Given the description of an element on the screen output the (x, y) to click on. 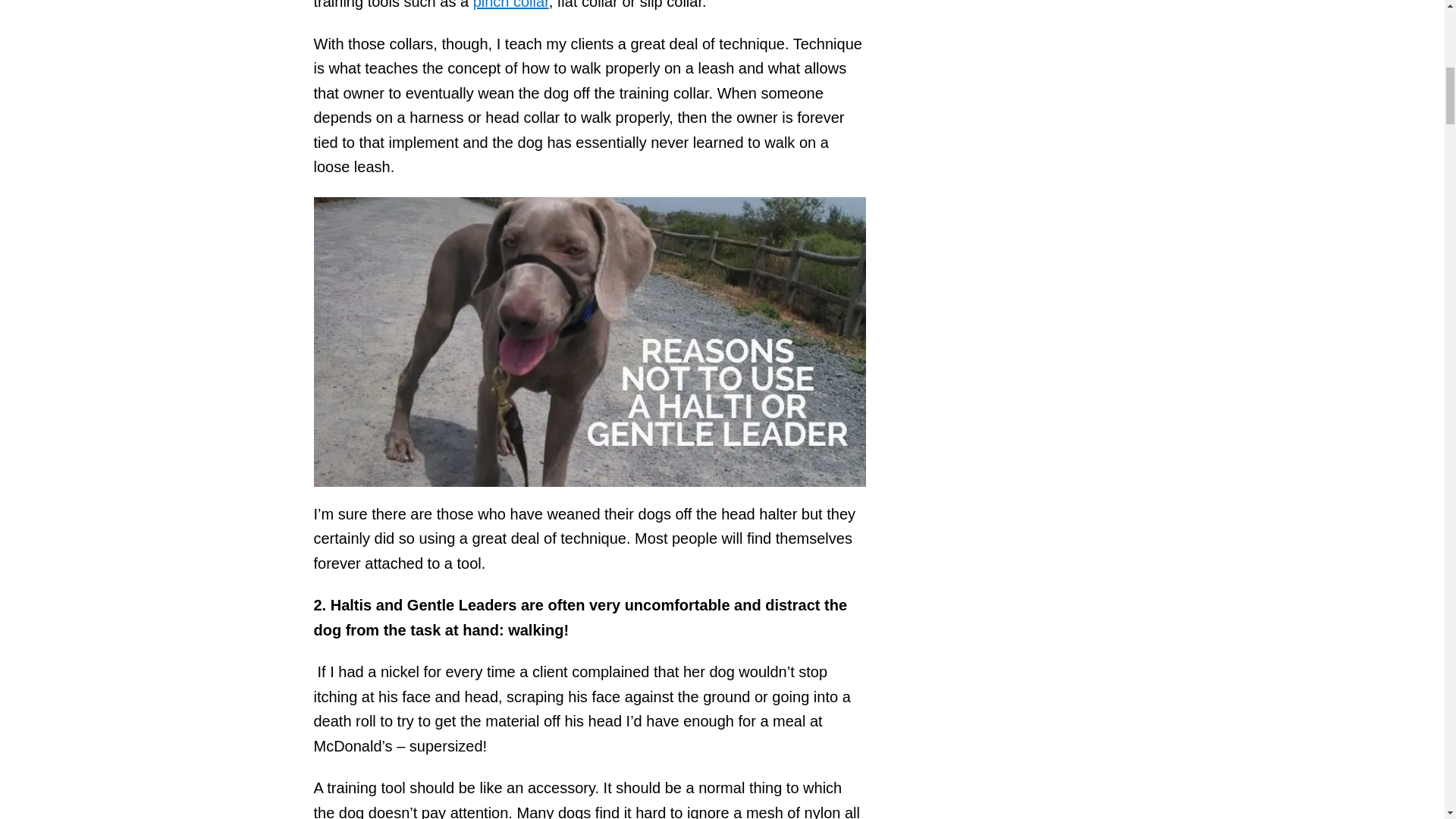
pinch collar (510, 4)
